Given the description of an element on the screen output the (x, y) to click on. 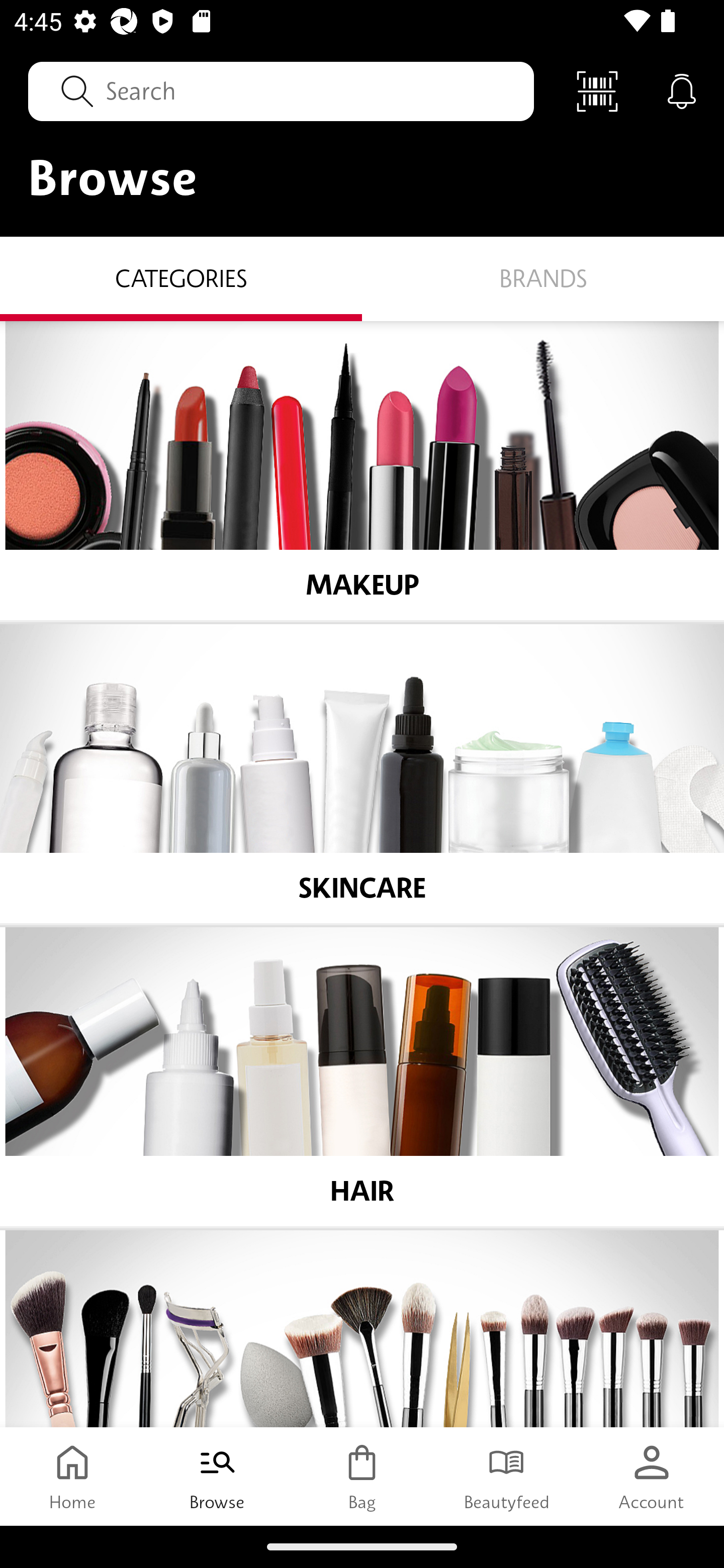
Scan Code (597, 90)
Notifications (681, 90)
Search (281, 90)
Brands BRANDS (543, 278)
MAKEUP (362, 471)
SKINCARE (362, 774)
HAIR (362, 1076)
Home (72, 1475)
Bag (361, 1475)
Beautyfeed (506, 1475)
Account (651, 1475)
